Given the description of an element on the screen output the (x, y) to click on. 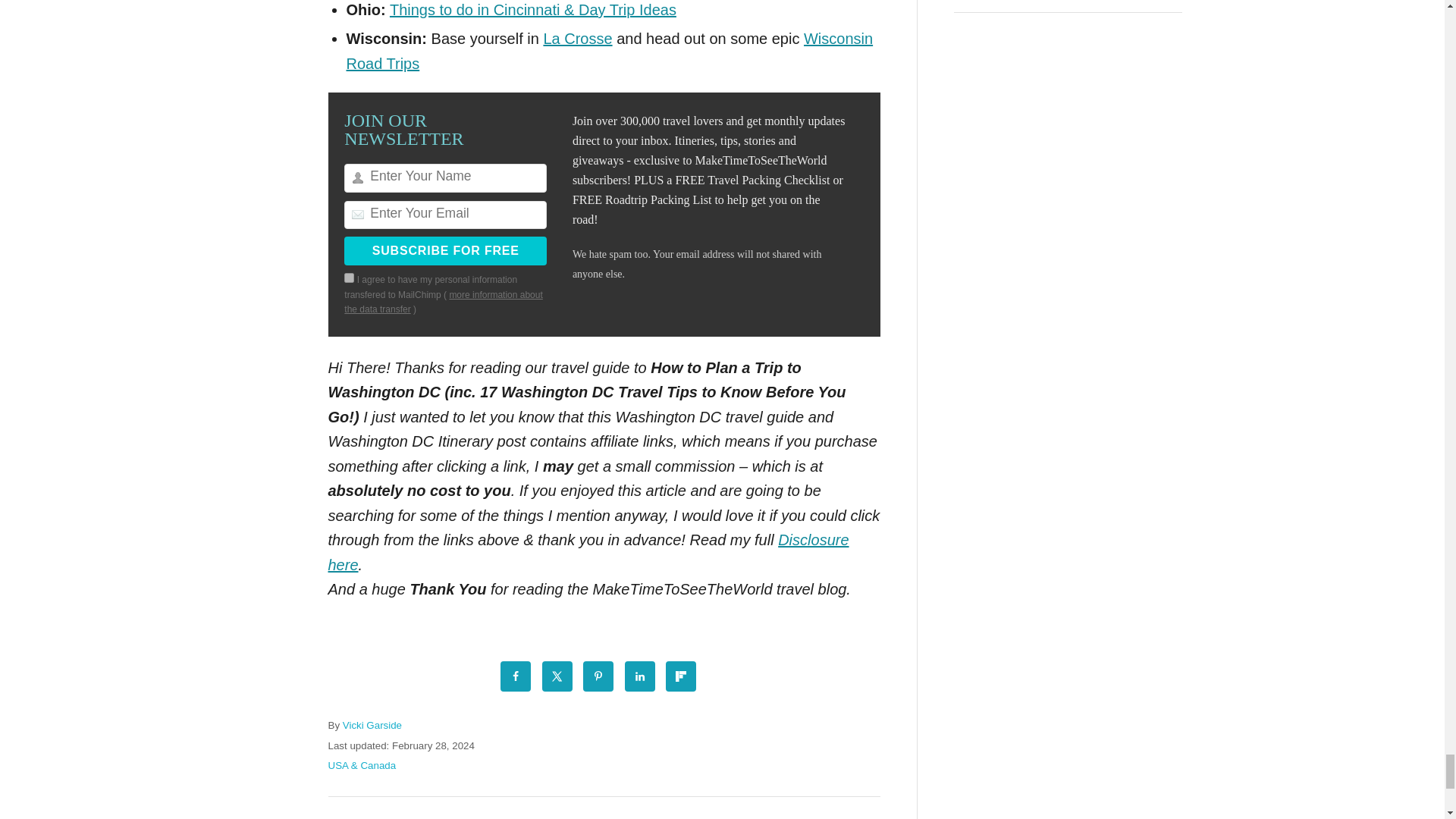
Share on LinkedIn (639, 675)
Share on Flipboard (680, 675)
on (348, 277)
SUBSCRIBE FOR FREE (445, 250)
Save to Pinterest (597, 675)
Share on Facebook (515, 675)
Share on X (556, 675)
